Given the description of an element on the screen output the (x, y) to click on. 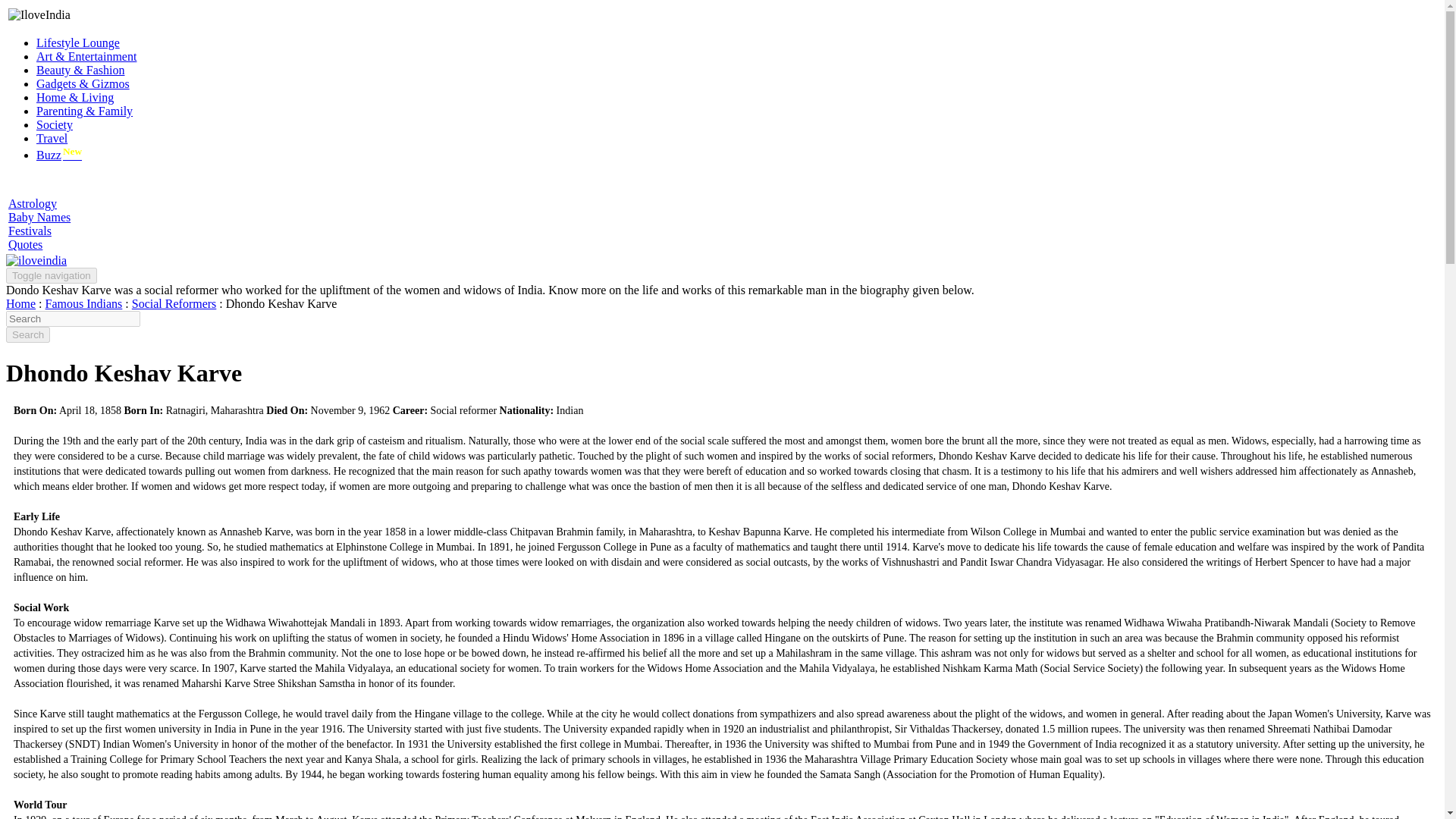
Search (27, 334)
Festivals (29, 230)
Travel (51, 137)
Baby Names (38, 216)
Toggle navigation (51, 275)
Social Reformers (174, 303)
BuzzNew (58, 154)
Famous Indians (83, 303)
Lifestyle Lounge (77, 42)
Home (19, 303)
